Given the description of an element on the screen output the (x, y) to click on. 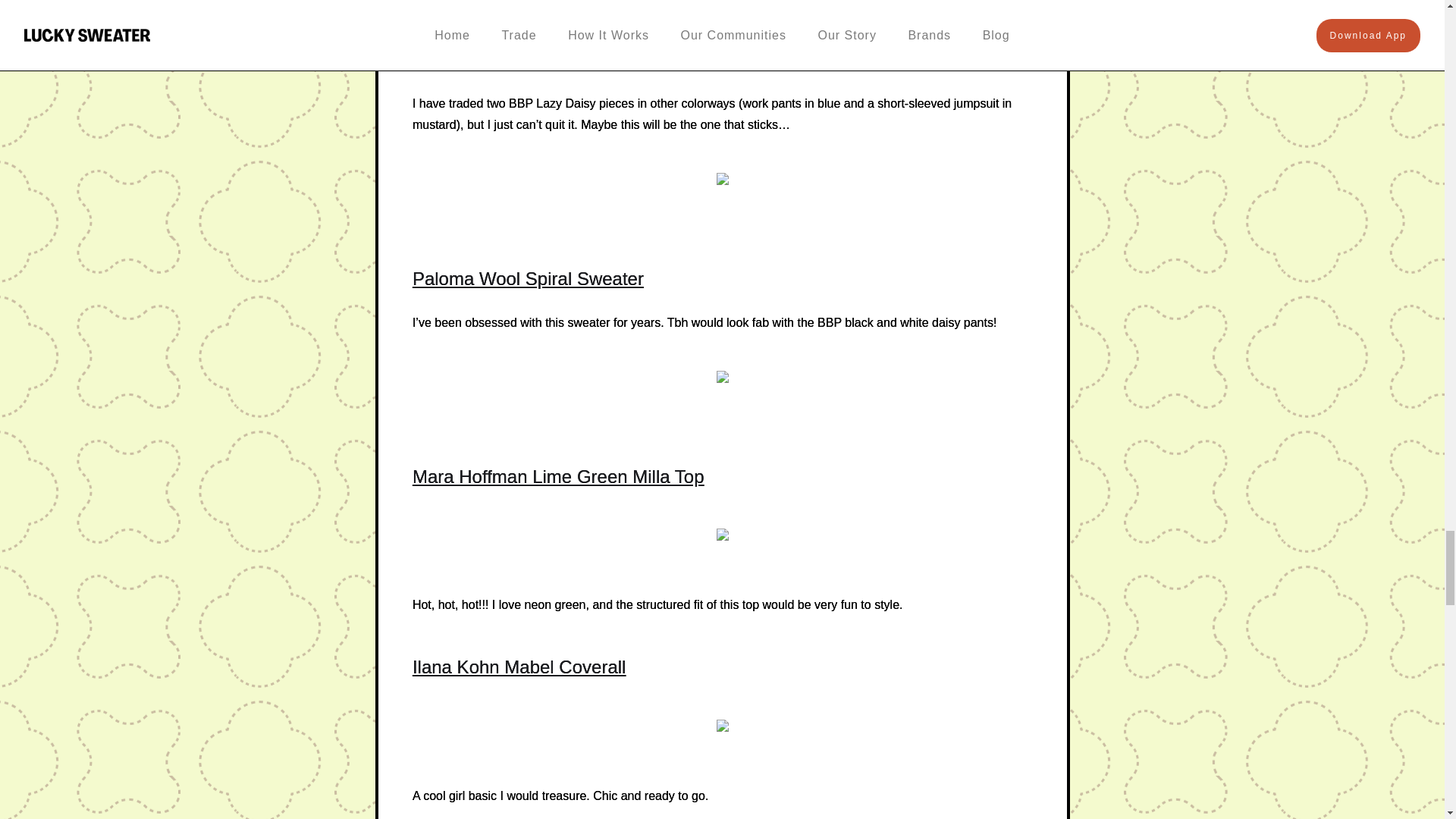
Ilana Kohn Mabel Coverall (519, 666)
Paloma Wool Spiral Sweater (527, 278)
Big Bud Press Pencil Pants in Lazy Daisy  (582, 59)
Mara Hoffman Lime Green Milla Top (558, 476)
